Given the description of an element on the screen output the (x, y) to click on. 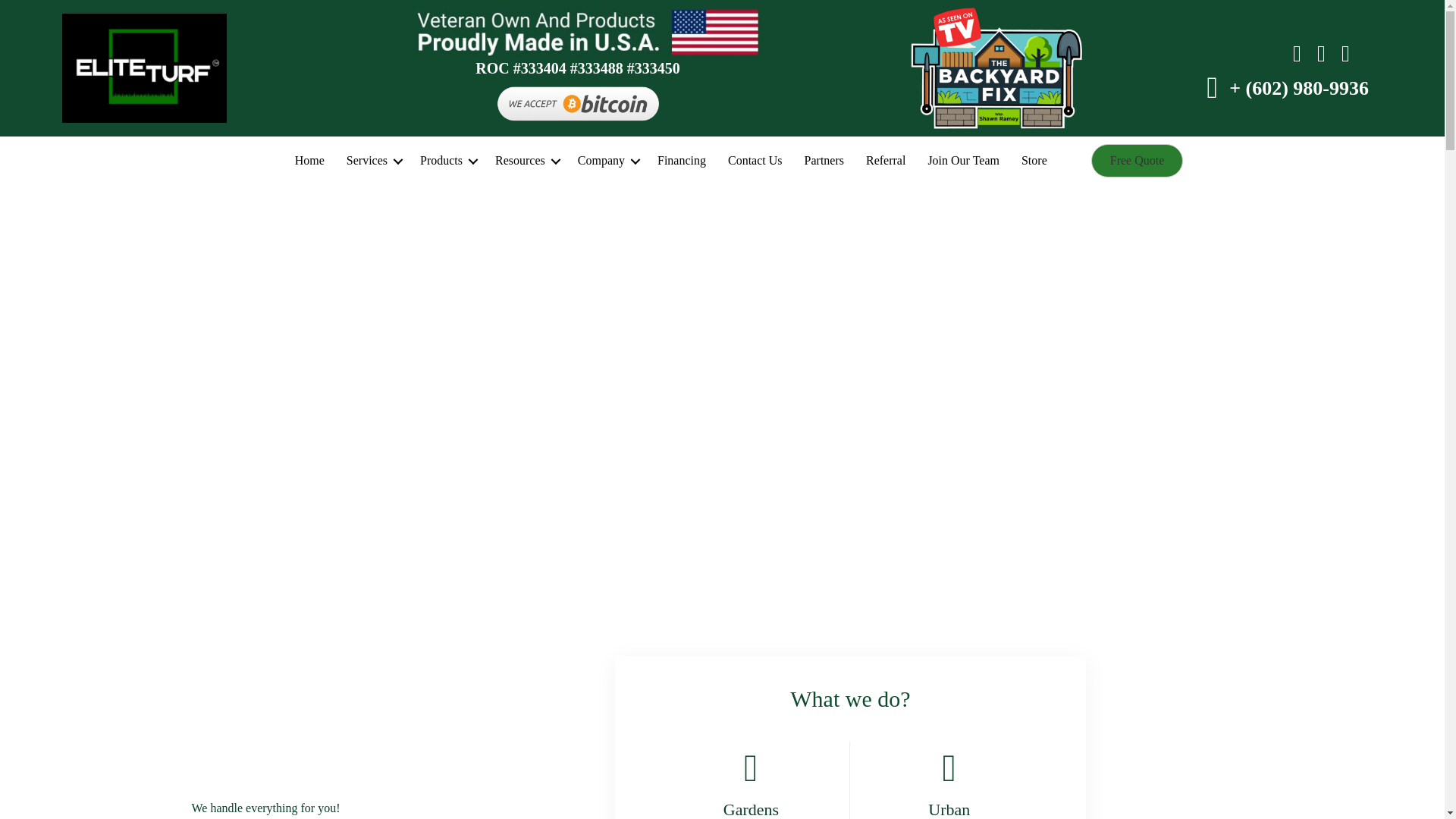
Untitled-removebg-preview (577, 103)
Home - Modern - Elite Turf (372, 161)
Home - Modern - Elite Turf (308, 161)
Add a heading (593, 32)
Products (446, 161)
Services (372, 161)
Home (308, 161)
cropped-logowithbackground-2-1.jpg (144, 67)
Home - Modern - Elite Turf (1298, 88)
